Given the description of an element on the screen output the (x, y) to click on. 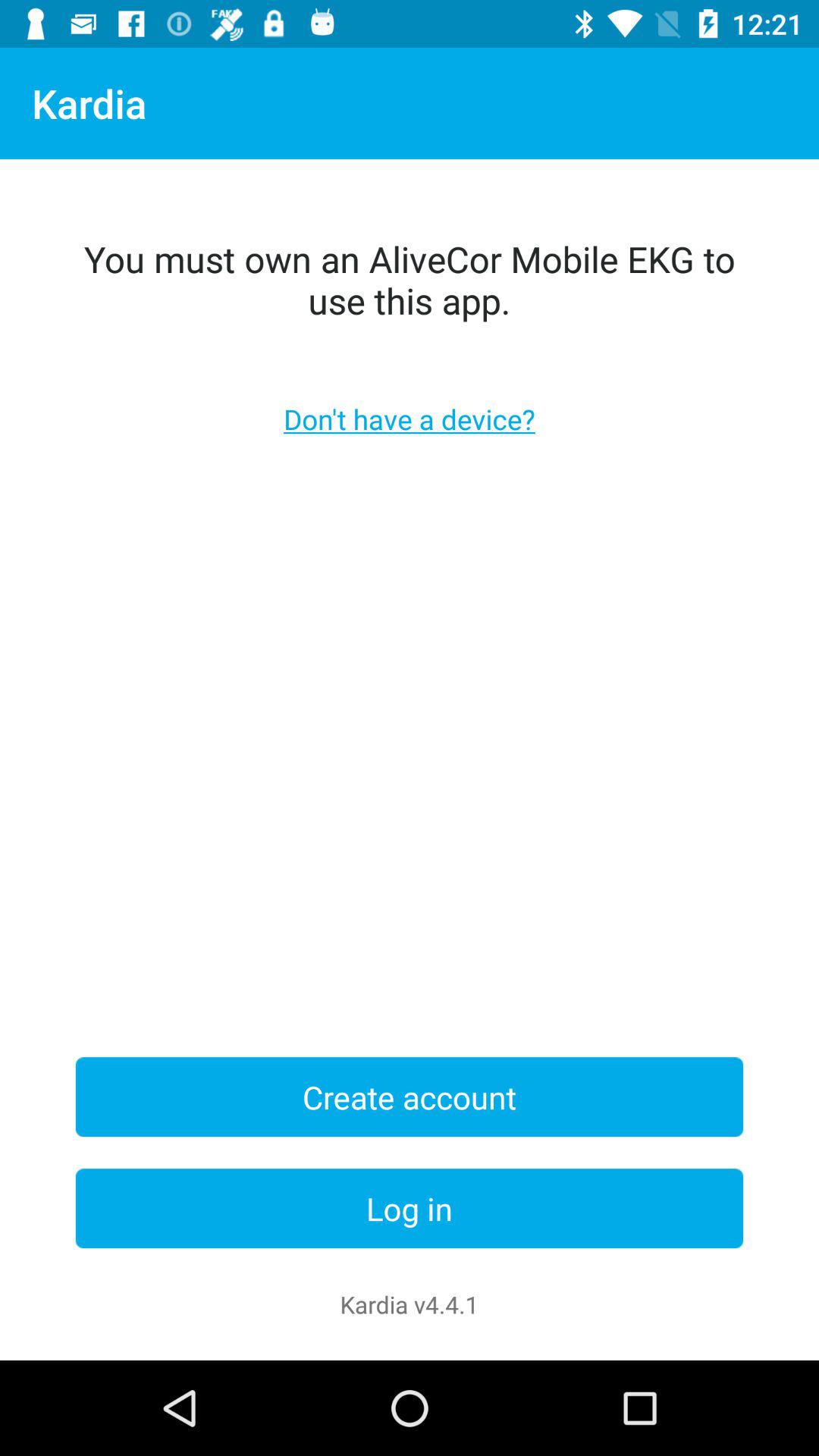
press log in (409, 1208)
